Given the description of an element on the screen output the (x, y) to click on. 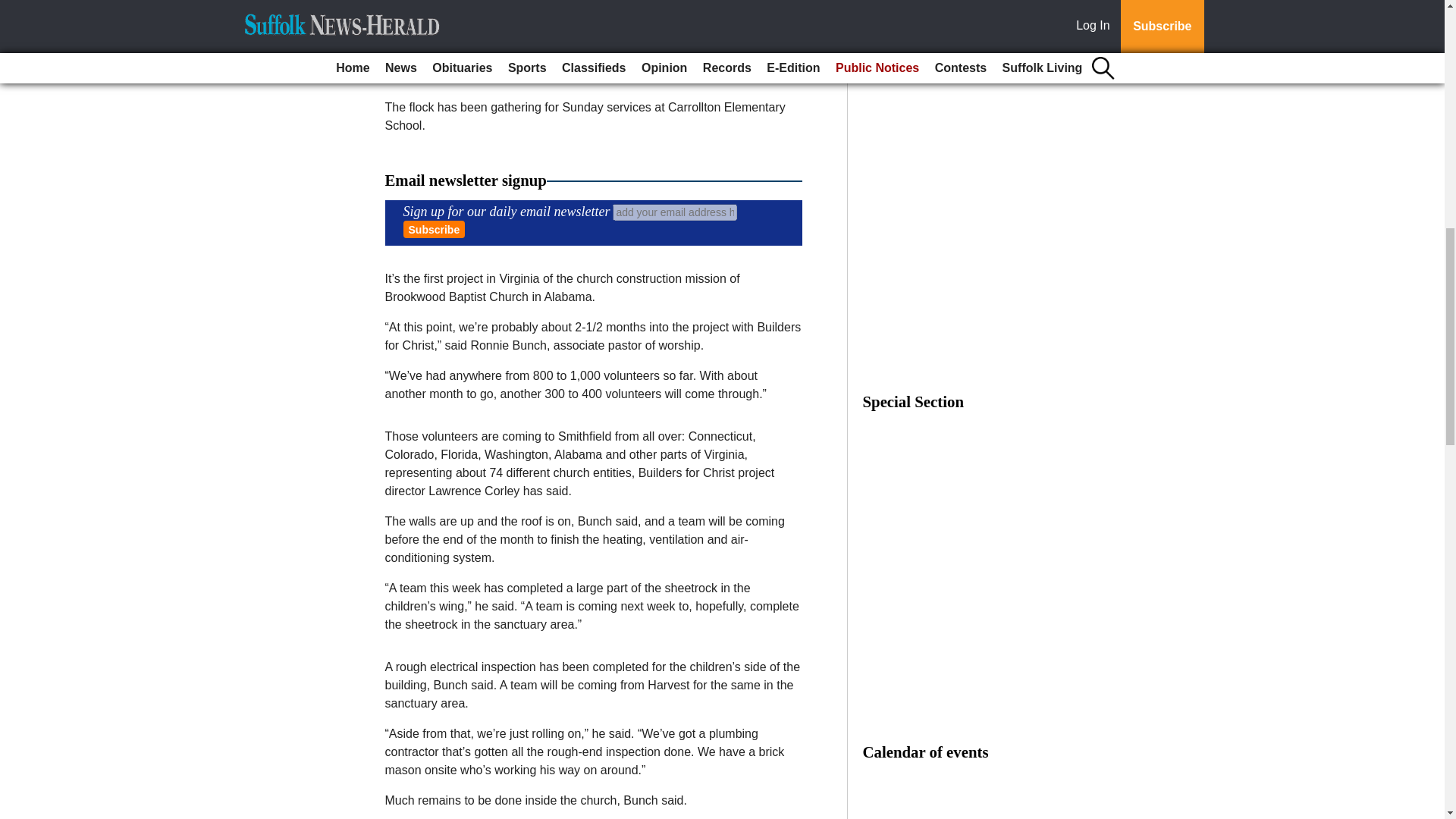
Subscribe (434, 229)
Subscribe (434, 229)
